Given the description of an element on the screen output the (x, y) to click on. 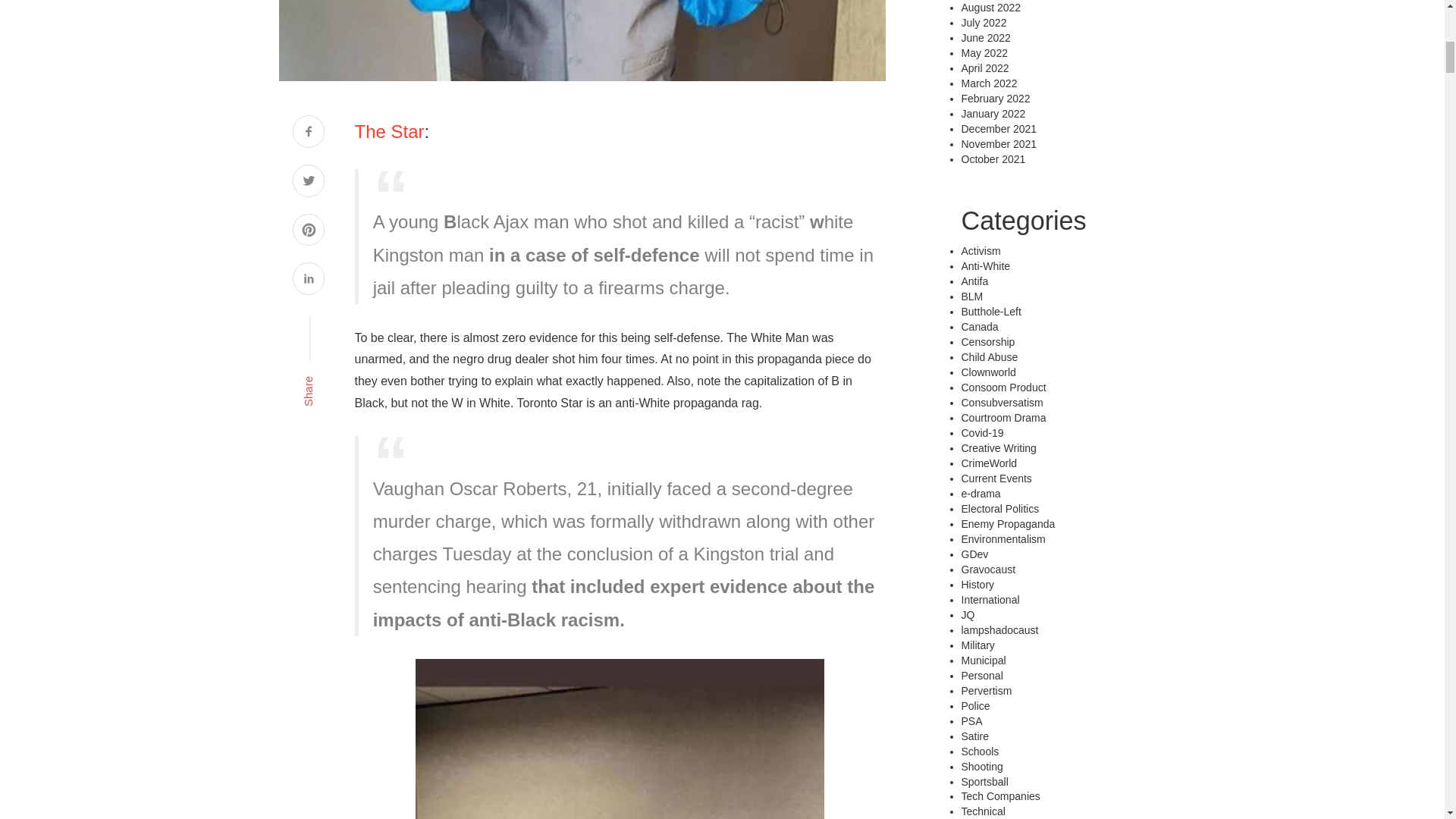
Share on Linkedin (308, 280)
Share on Facebook (308, 133)
The Star (390, 131)
Share on Pinterest (308, 231)
Share on Twitter (308, 182)
